Given the description of an element on the screen output the (x, y) to click on. 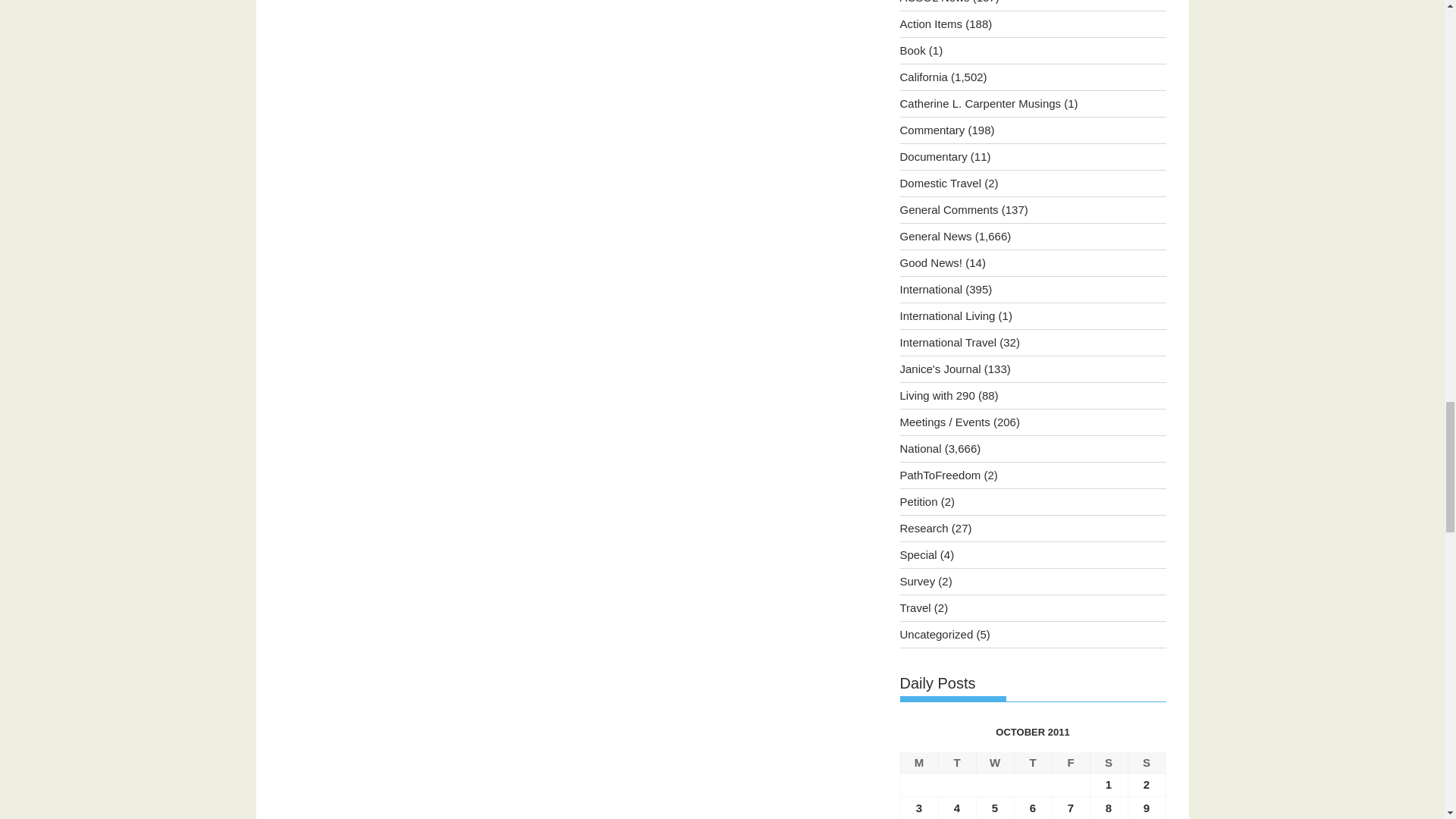
Sunday (1146, 762)
Saturday (1107, 762)
Wednesday (994, 762)
Monday (918, 762)
Tuesday (956, 762)
Friday (1070, 762)
Thursday (1032, 762)
